Given the description of an element on the screen output the (x, y) to click on. 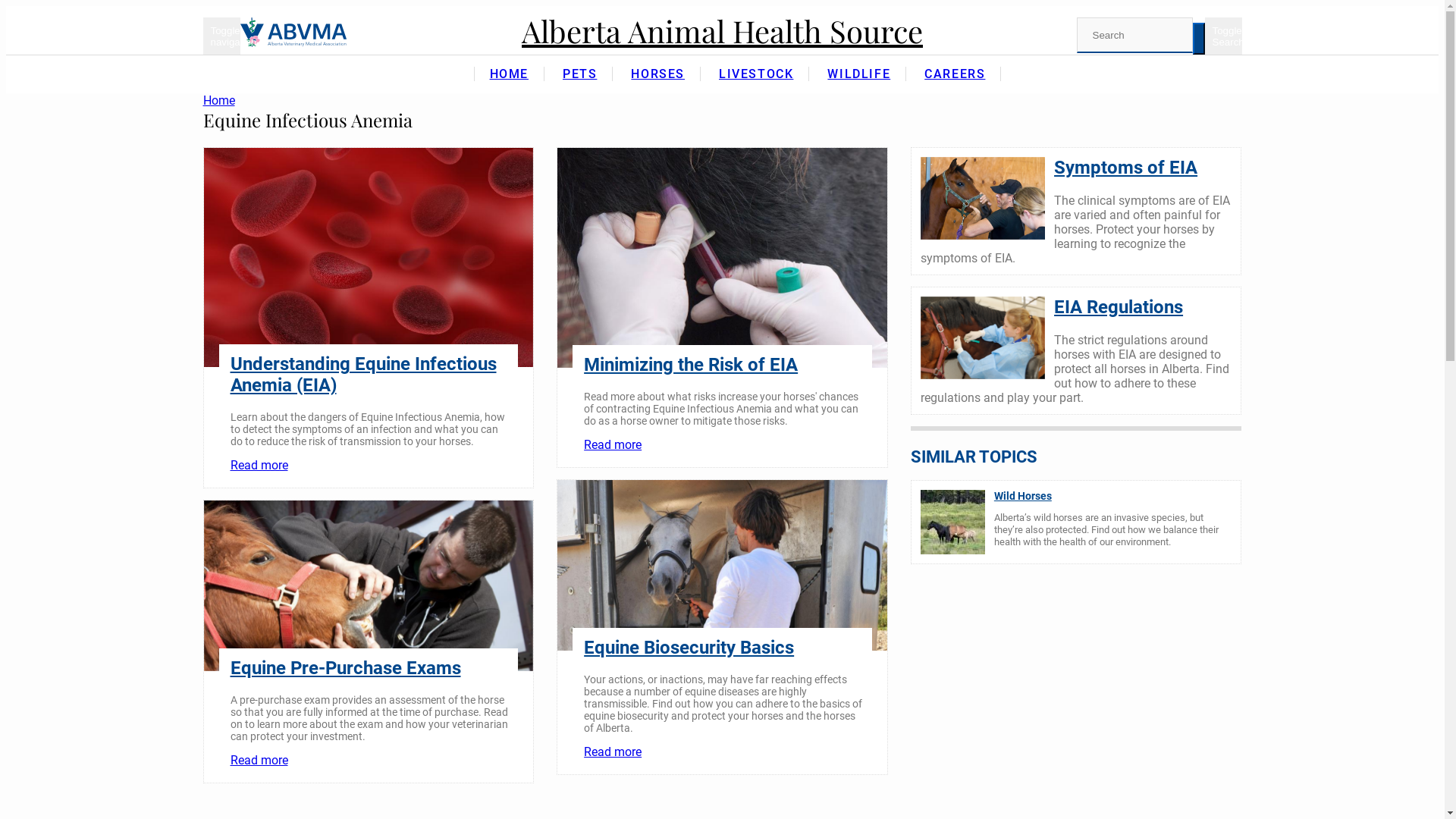
CAREERS Element type: text (954, 73)
Home Element type: hover (292, 32)
Facebook Element type: hover (1179, 85)
Search Element type: text (1141, 50)
Twitter Element type: hover (1215, 85)
Youtube Element type: hover (1234, 85)
LIVESTOCK Element type: text (755, 73)
Toggle navigation Element type: text (221, 35)
Home Element type: text (219, 100)
Skip to main content Element type: text (6, 6)
PETS Element type: text (579, 73)
Alberta Animal Health Source Element type: text (721, 30)
Equine Biosecurity Basics Element type: text (688, 647)
Read more Element type: text (612, 444)
Read more Element type: text (259, 465)
Equine Pre-Purchase Exams Element type: text (345, 667)
Understanding Equine Infectious Anemia (EIA) Element type: text (363, 374)
WILDLIFE Element type: text (858, 73)
Read more Element type: text (259, 760)
Minimizing the Risk of EIA Element type: text (690, 364)
Toggle Search Element type: text (1222, 35)
LinkedIn Element type: hover (1197, 85)
HORSES Element type: text (657, 73)
Read more Element type: text (612, 751)
EIA Regulations Element type: text (1118, 306)
Enter the terms you wish to search for. Element type: hover (1134, 35)
HOME Element type: text (508, 73)
Symptoms of EIA Element type: text (1125, 167)
Wild Horses Element type: text (1022, 495)
